Given the description of an element on the screen output the (x, y) to click on. 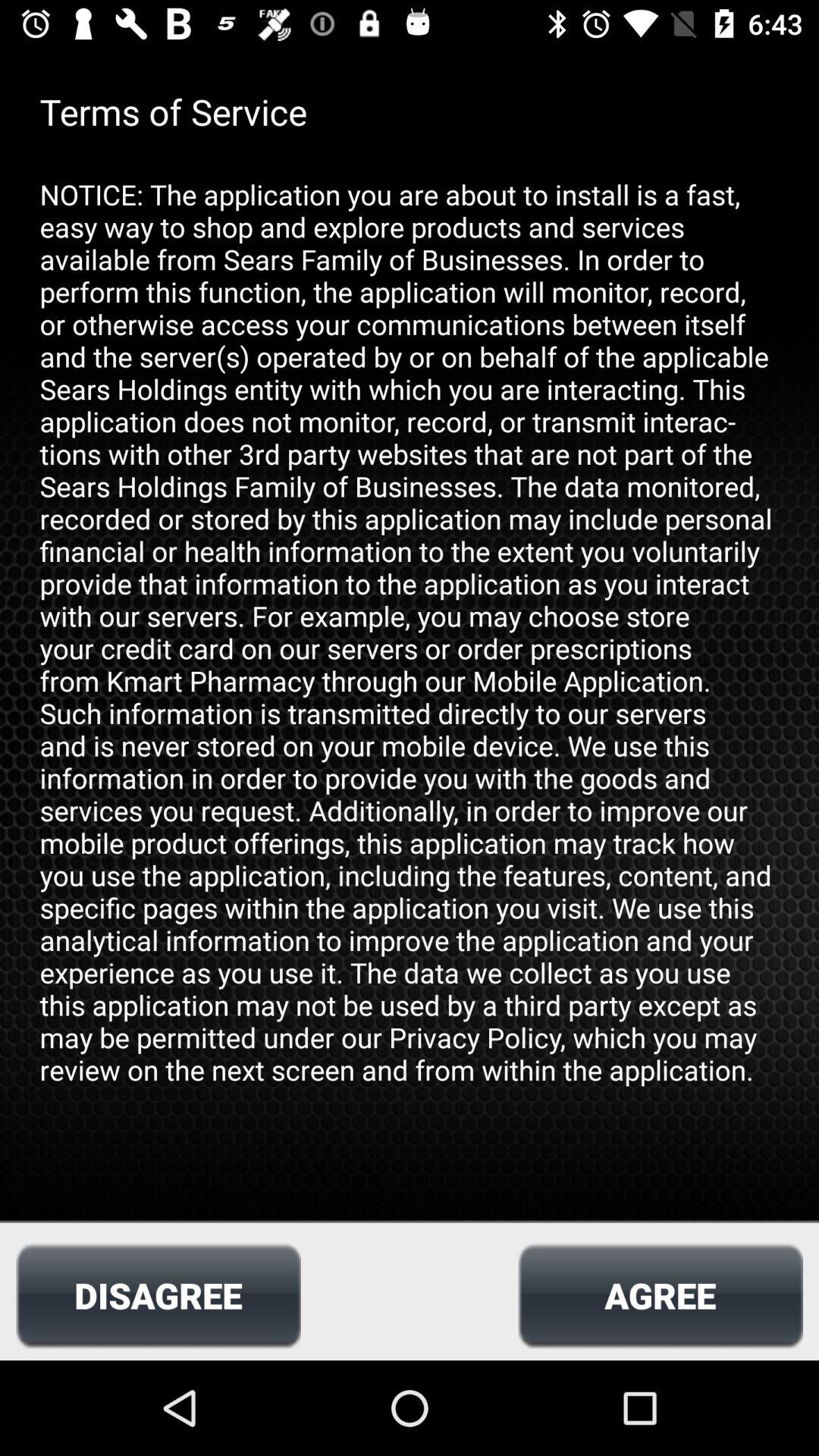
select disagree icon (157, 1295)
